Given the description of an element on the screen output the (x, y) to click on. 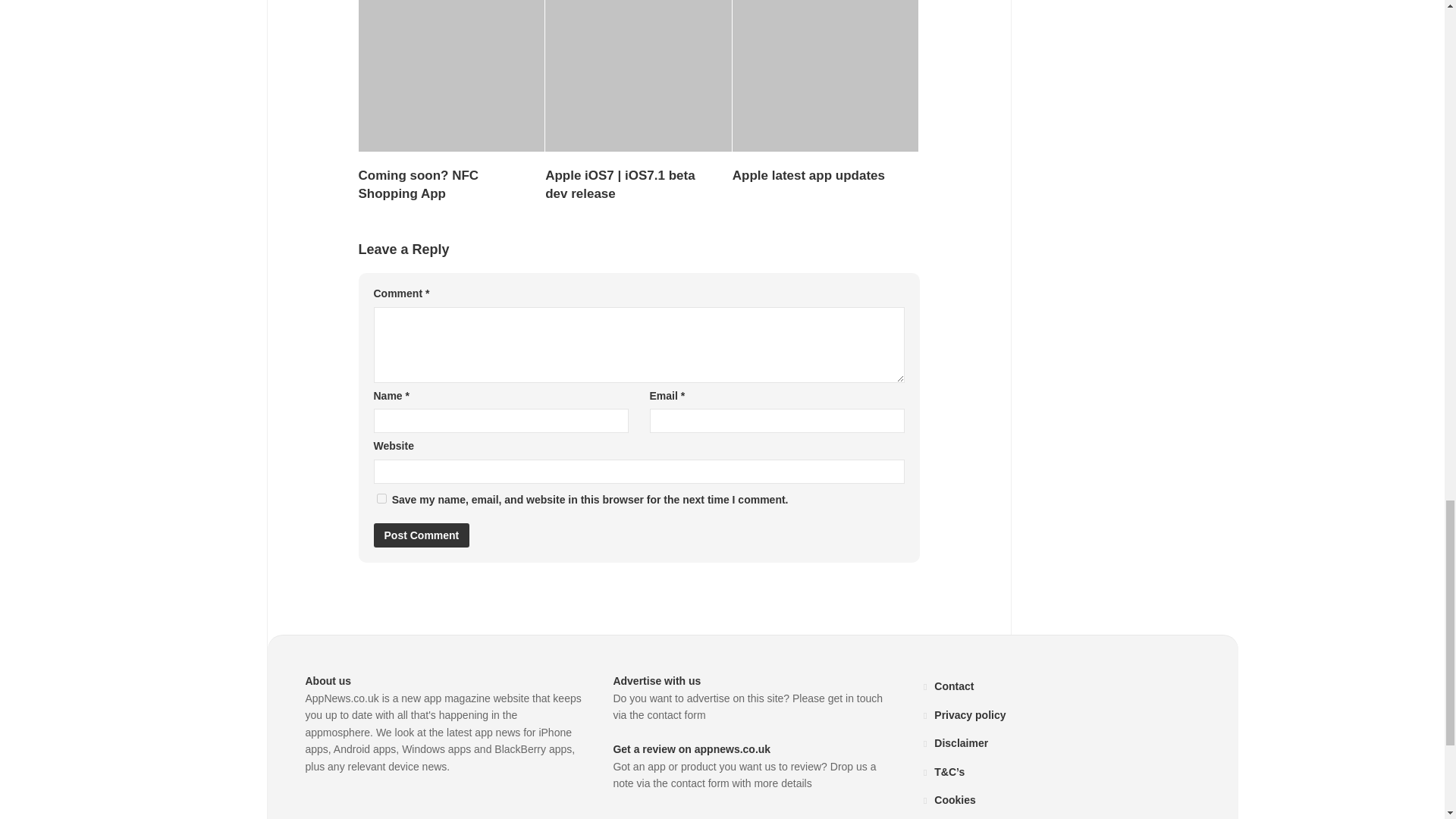
yes (380, 498)
Post Comment (420, 535)
